Given the description of an element on the screen output the (x, y) to click on. 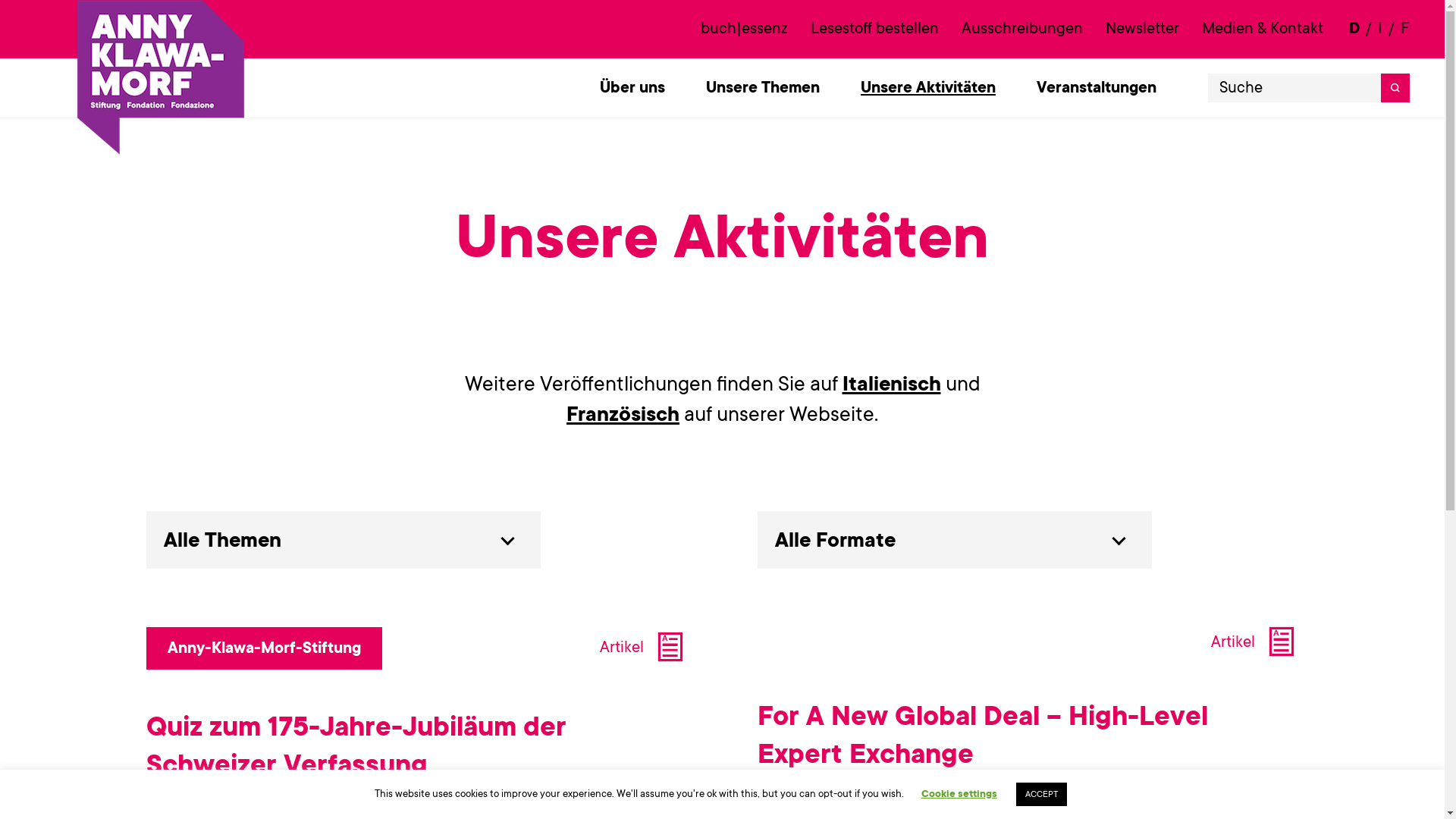
F Element type: text (1404, 28)
Newsletter Element type: text (1142, 28)
Unsere Themen Element type: text (762, 87)
Veranstaltungen Element type: text (1096, 87)
Italienisch Element type: text (890, 383)
Anny-Klawa-Morf-Stiftung Element type: text (263, 648)
Lesestoff bestellen Element type: text (874, 28)
Cookie settings Element type: text (958, 793)
I Element type: text (1379, 28)
Medien & Kontakt Element type: text (1262, 28)
ACCEPT Element type: text (1041, 794)
Ausschreibungen Element type: text (1021, 28)
buch|essenz Element type: text (743, 28)
